Given the description of an element on the screen output the (x, y) to click on. 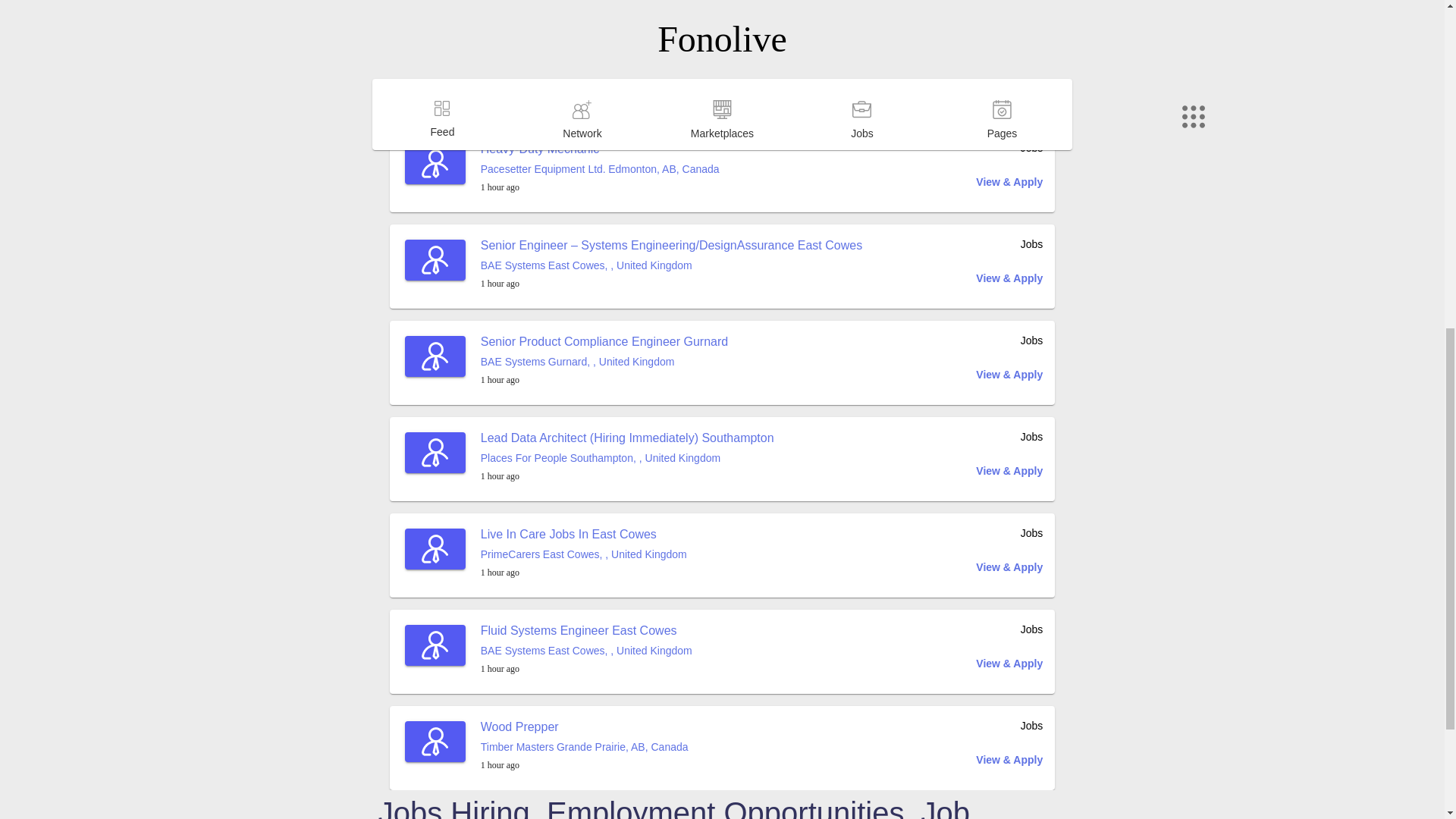
BAE Systems (513, 72)
Heavy-Duty Mechanic (539, 148)
Edmonton, AB, Canada (663, 168)
Pacesetter Equipment Ltd. (542, 168)
East Cowes, , United Kingdom (620, 72)
